Given the description of an element on the screen output the (x, y) to click on. 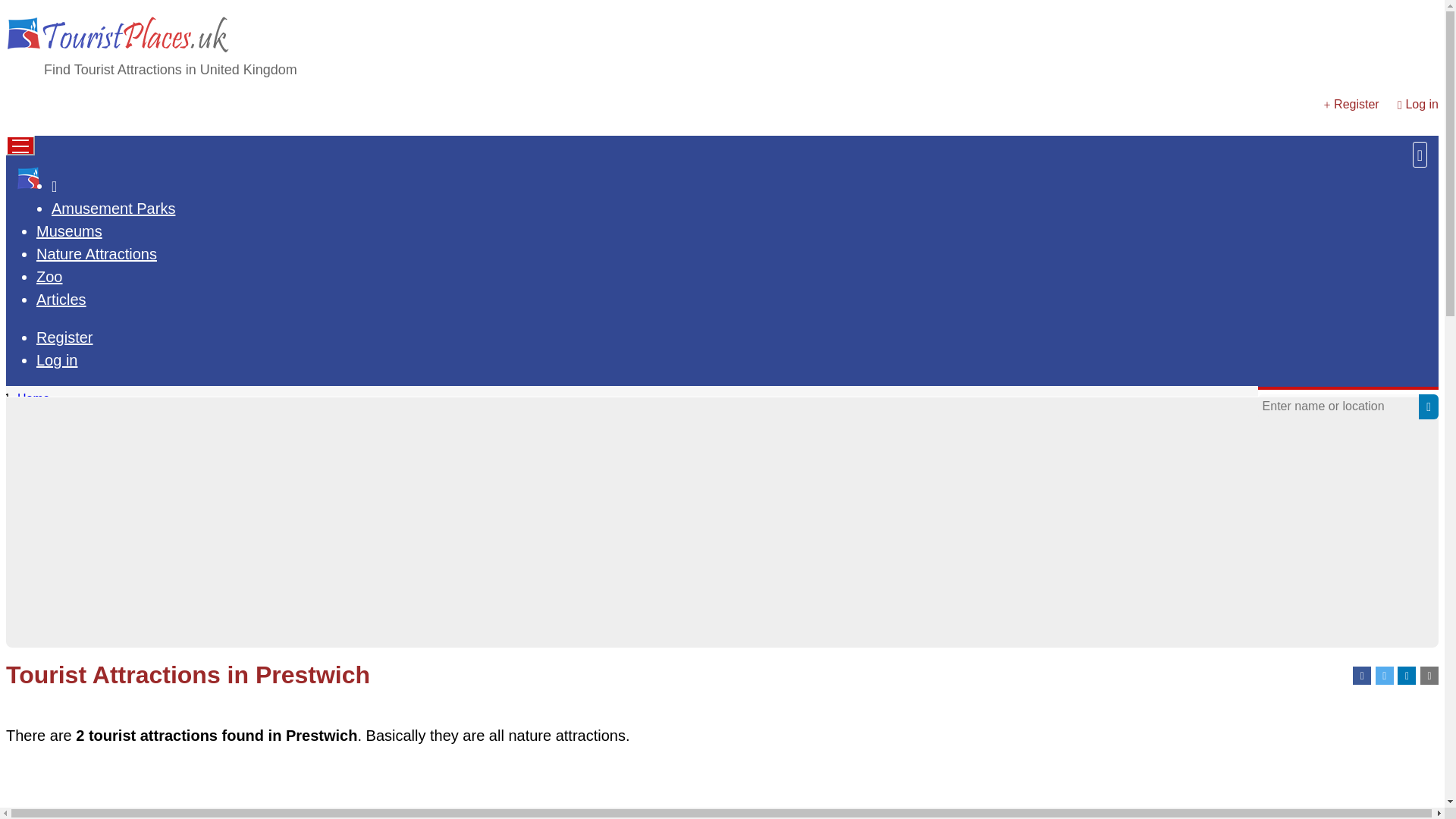
Find Tourist Attractions in United Kingdom (170, 69)
www.touristplaces.uk (117, 54)
Articles (60, 299)
Museums (68, 230)
Log in (57, 360)
Register (1355, 103)
Zoo (49, 276)
www.touristplaces.uk (28, 178)
Find Tourist Attractions in United Kingdom (170, 69)
Log in (1421, 103)
Nature Attractions (96, 253)
Register (64, 337)
Home (33, 398)
www.touristplaces.uk (117, 36)
Amusement Parks (112, 208)
